Given the description of an element on the screen output the (x, y) to click on. 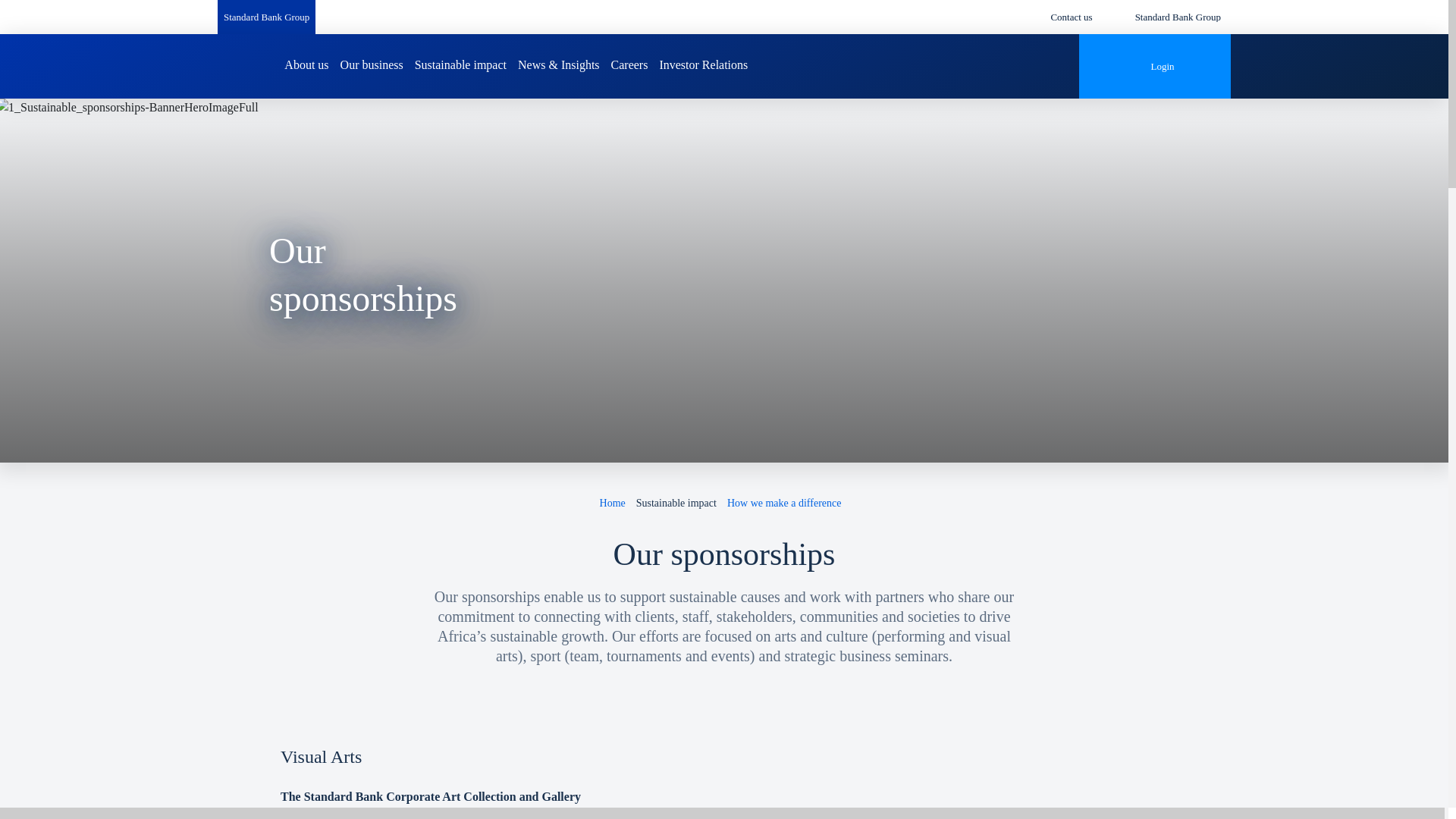
Contact us (1070, 17)
Our business (371, 65)
Sustainable impact (460, 65)
About us (306, 65)
Standard Bank Group (266, 17)
